Given the description of an element on the screen output the (x, y) to click on. 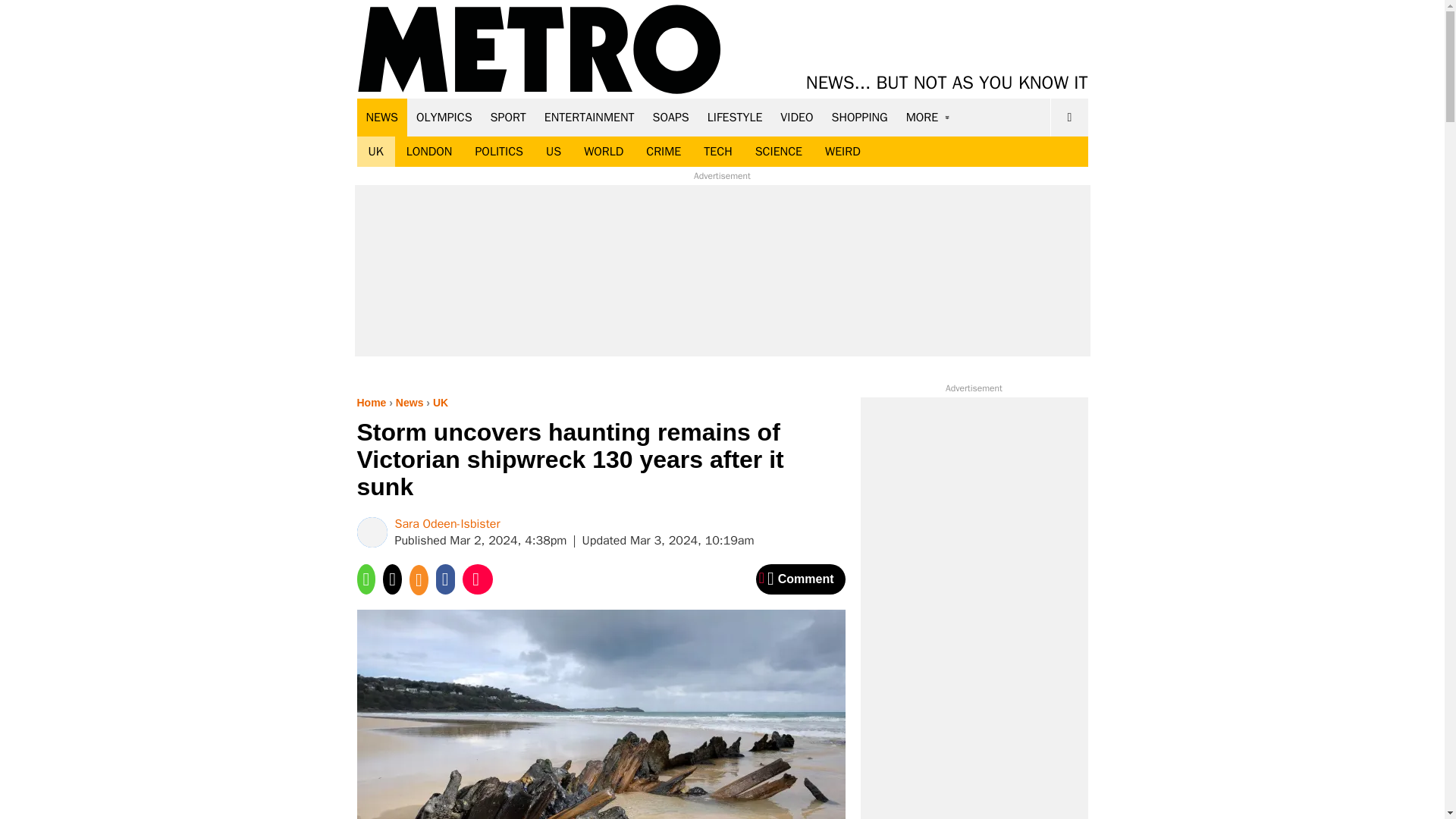
Metro (539, 50)
US (553, 151)
SPORT (508, 117)
ENTERTAINMENT (589, 117)
OLYMPICS (444, 117)
UK (375, 151)
CRIME (663, 151)
NEWS (381, 117)
WORLD (603, 151)
TECH (717, 151)
